Given the description of an element on the screen output the (x, y) to click on. 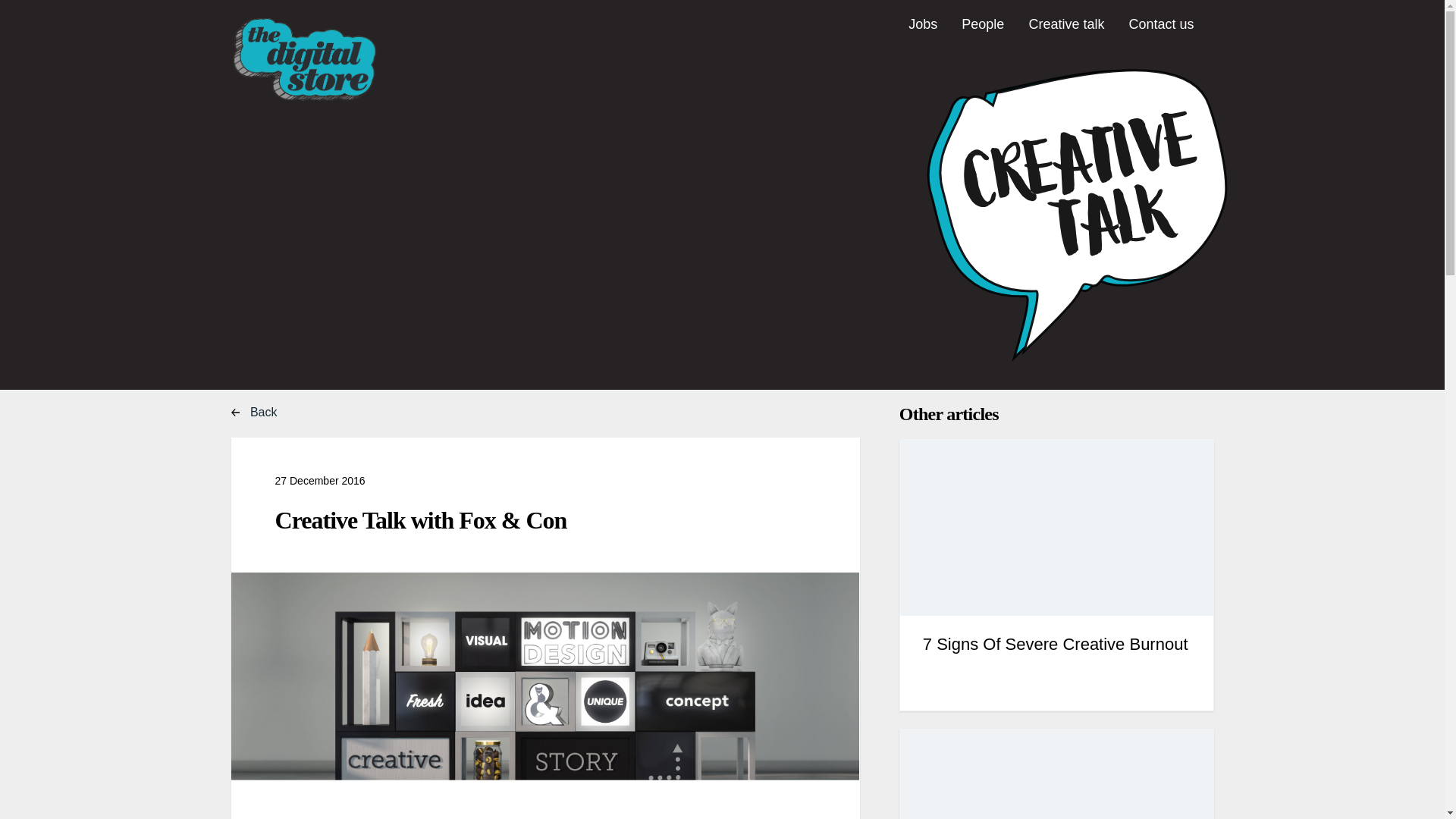
Back (268, 413)
Creative talk (1065, 34)
The Digital Store New Zealand Salary Survey 2024 (1055, 774)
Contact us (1159, 34)
7 Signs Of Severe Creative Burnout (1055, 574)
People (982, 34)
